Given the description of an element on the screen output the (x, y) to click on. 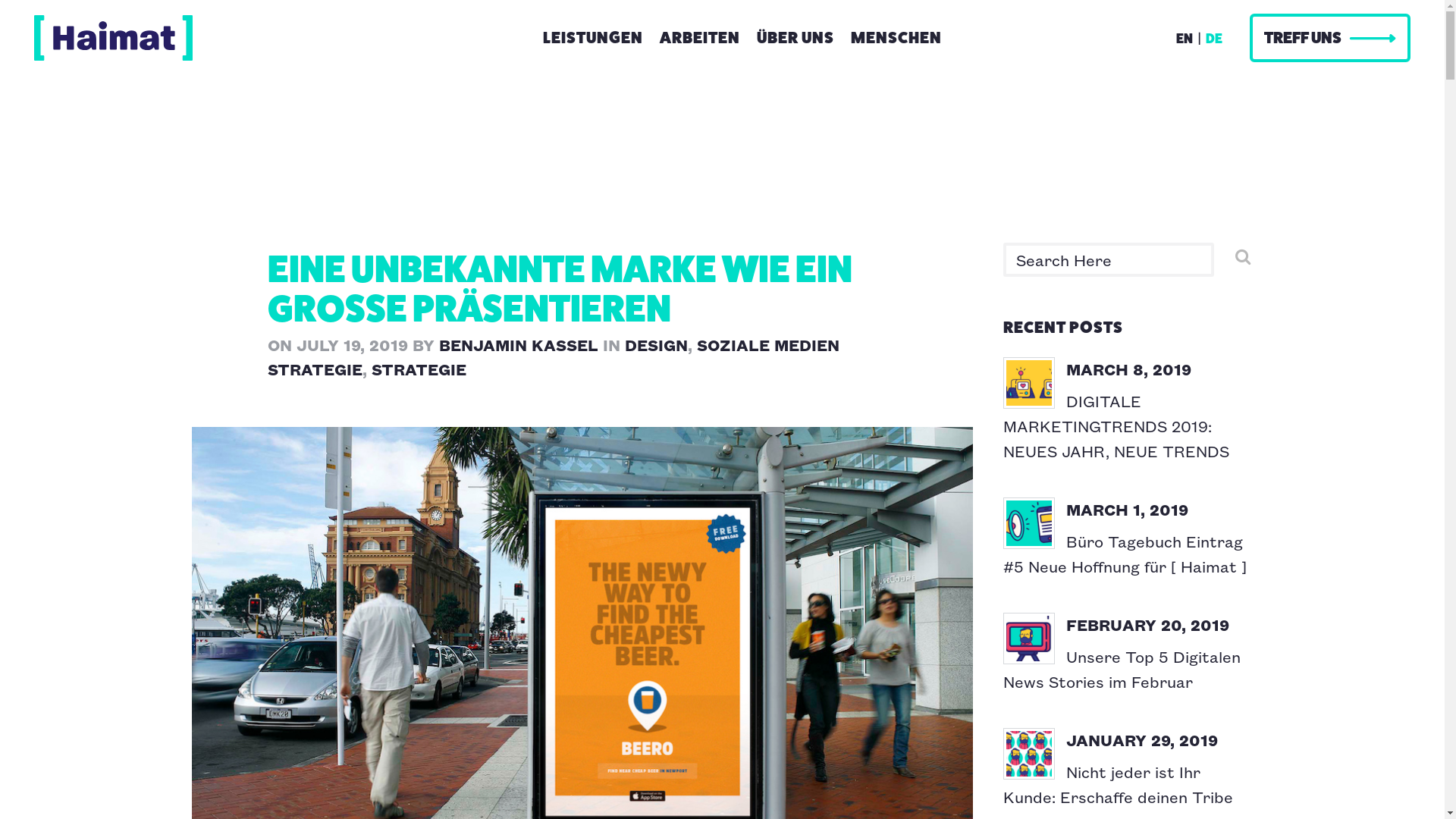
DE Element type: text (1213, 38)
Nicht jeder ist Ihr Kunde: Erschaffe deinen Tribe Element type: text (1117, 783)
MENSCHEN Element type: text (895, 26)
DESIGN Element type: text (655, 344)
STRATEGIE Element type: text (418, 368)
TREFF UNS Element type: text (1329, 37)
Unsere Top 5 Digitalen News Stories im Februar Element type: text (1120, 668)
LEISTUNGEN Element type: text (592, 26)
DIGITALE MARKETINGTRENDS 2019: NEUES JAHR, NEUE TRENDS Element type: text (1115, 425)
EN Element type: text (1184, 38)
BENJAMIN KASSEL Element type: text (517, 344)
SOZIALE MEDIEN STRATEGIE Element type: text (552, 356)
ARBEITEN Element type: text (699, 26)
